Given the description of an element on the screen output the (x, y) to click on. 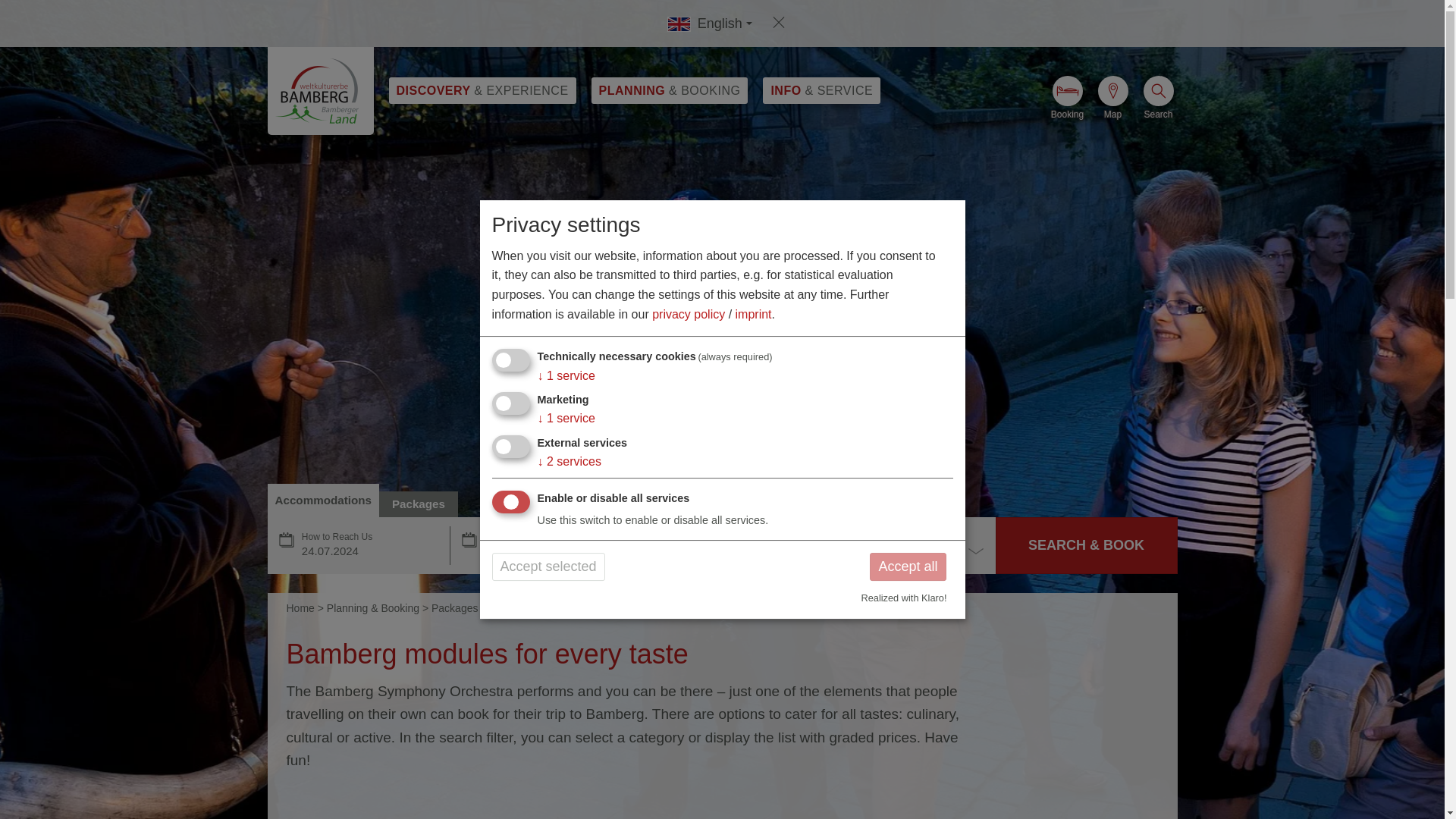
24.07.2024 (369, 550)
English (704, 23)
English (705, 23)
Bamberg: World Heritage Fascination (319, 90)
25.07.2024 (552, 550)
